Given the description of an element on the screen output the (x, y) to click on. 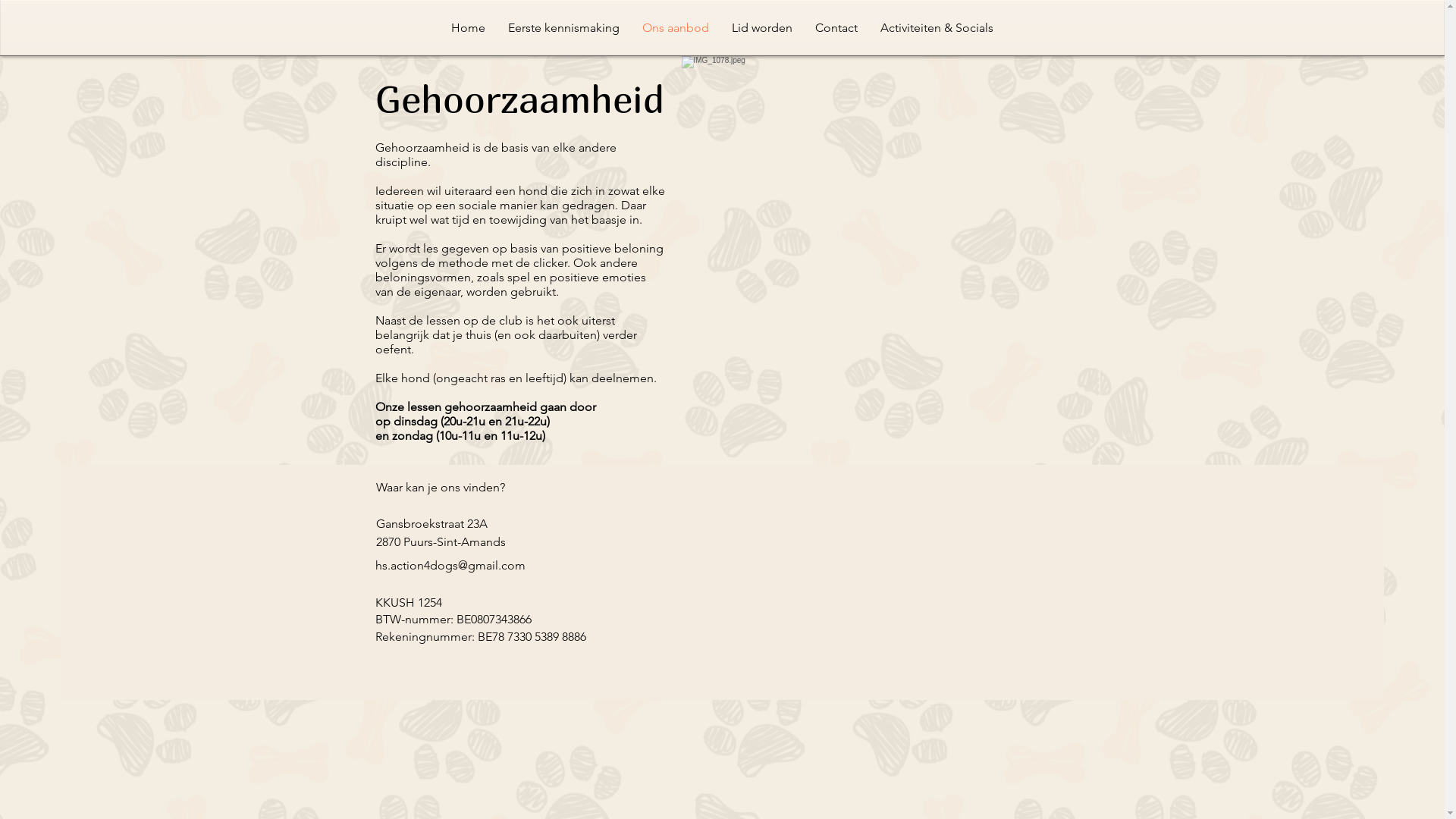
Lid worden Element type: text (761, 27)
Activiteiten & Socials Element type: text (936, 27)
Home Element type: text (467, 27)
Ons aanbod Element type: text (675, 27)
hs.action4dogs@gmail.com Element type: text (449, 565)
Eerste kennismaking Element type: text (563, 27)
Contact Element type: text (836, 27)
Google Maps Element type: hover (790, 566)
